Given the description of an element on the screen output the (x, y) to click on. 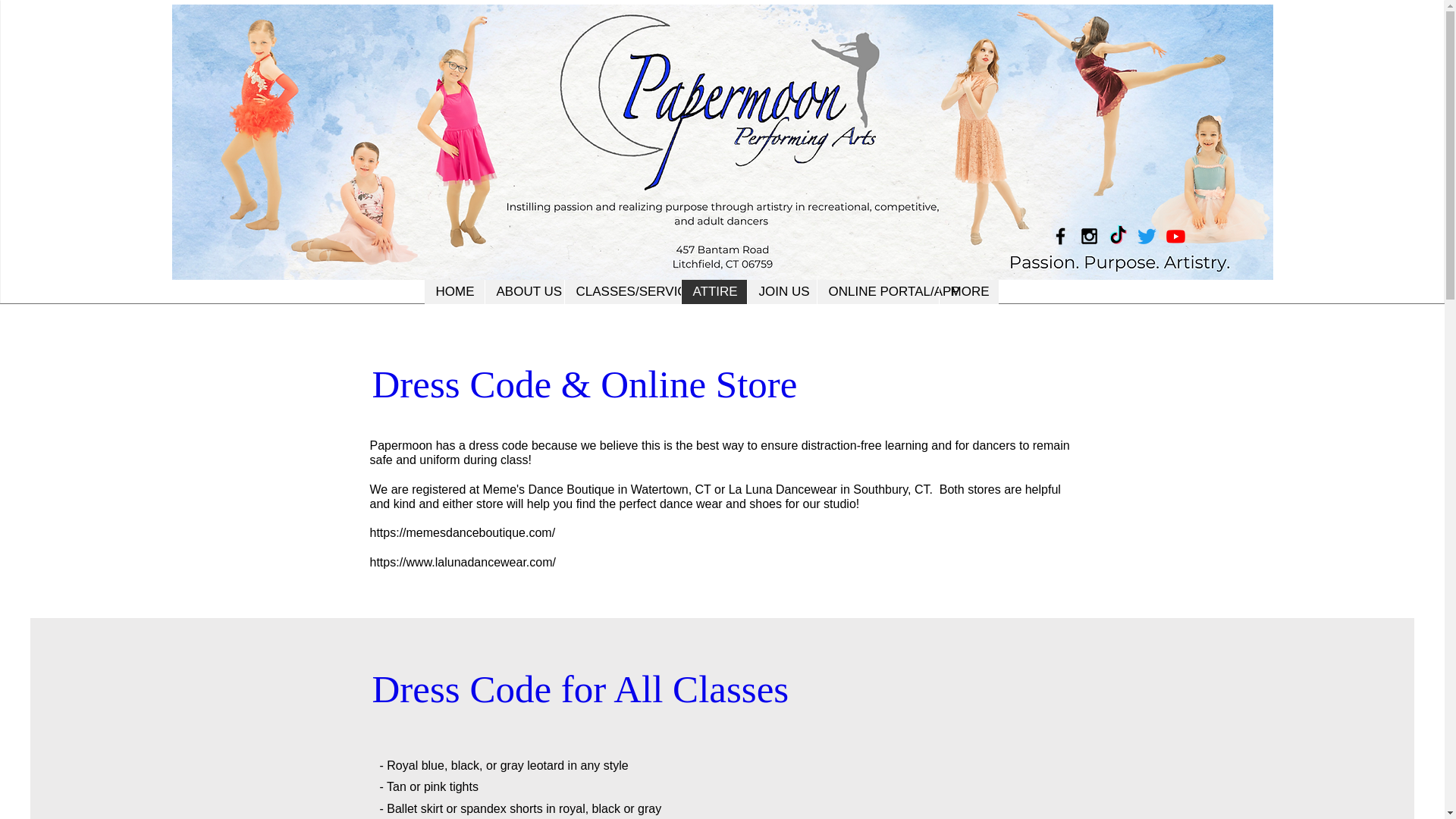
ABOUT US (523, 291)
HOME (454, 291)
ATTIRE (713, 291)
MORE (968, 291)
JOIN US (780, 291)
